Given the description of an element on the screen output the (x, y) to click on. 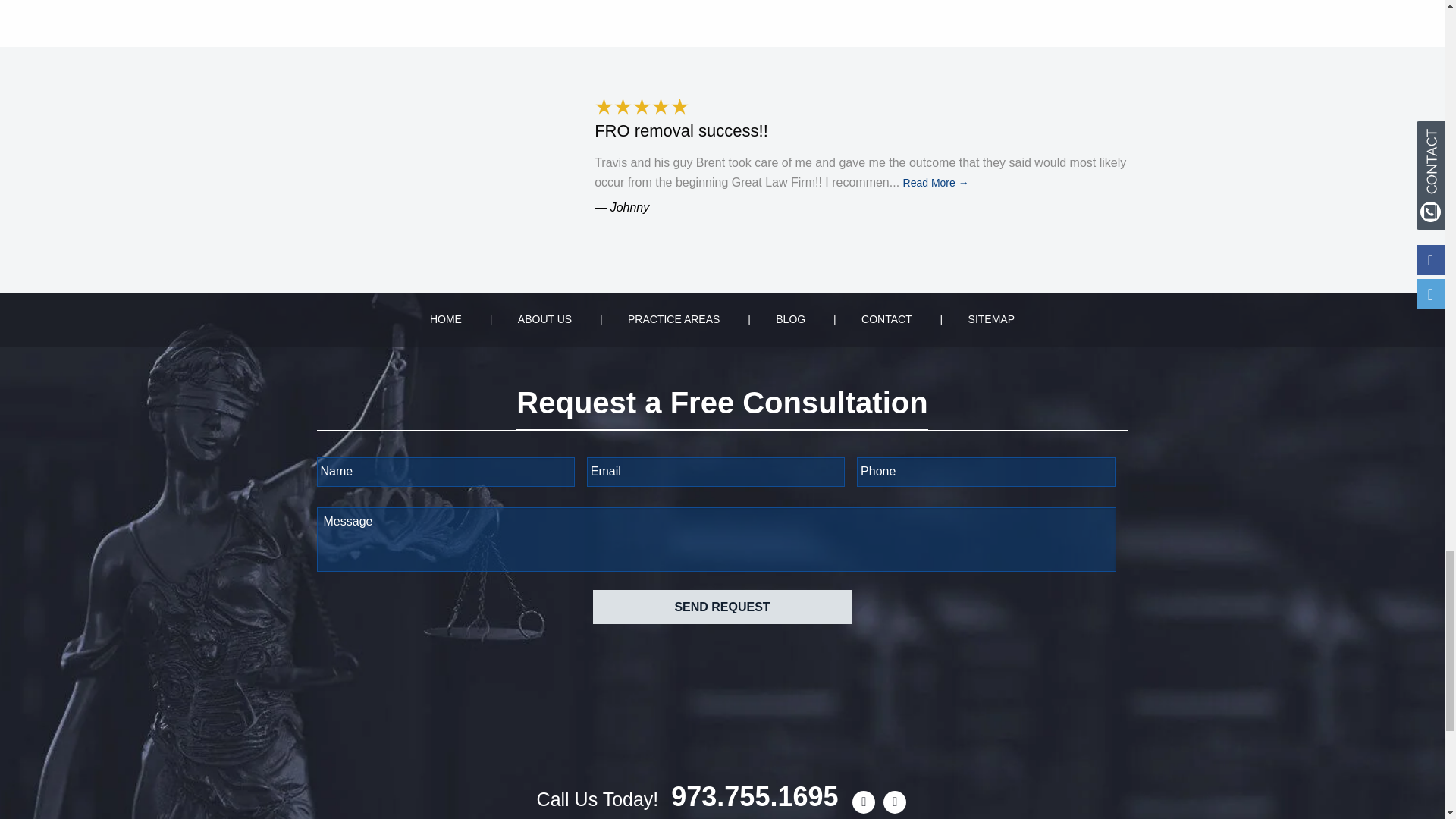
Send Request (721, 606)
